Given the description of an element on the screen output the (x, y) to click on. 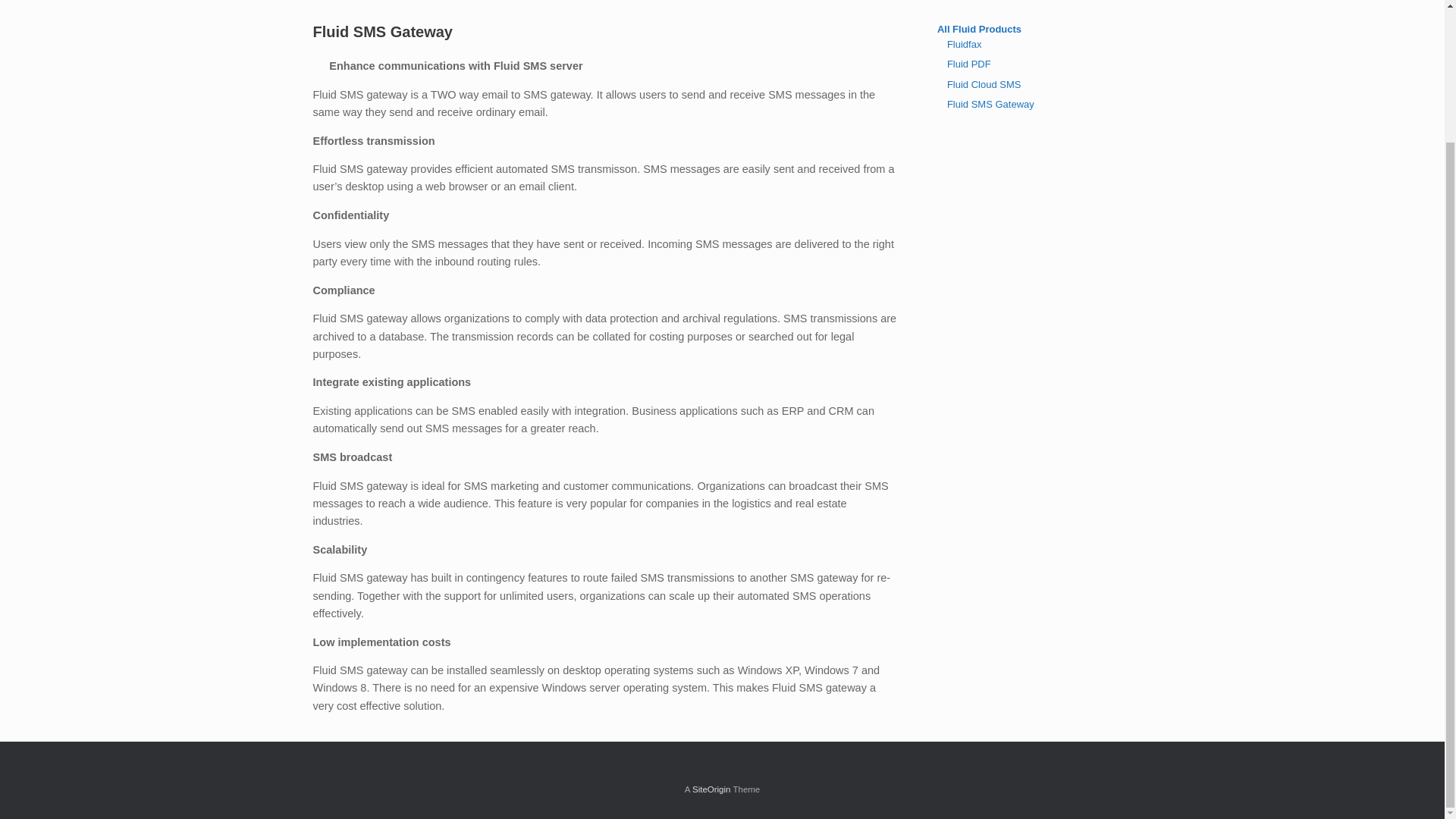
Fluid Cloud SMS (984, 83)
Fluidfax (964, 43)
Fluid PDF (969, 63)
SiteOrigin (711, 788)
Fluid SMS Gateway (990, 103)
All Fluid Products (979, 29)
